Given the description of an element on the screen output the (x, y) to click on. 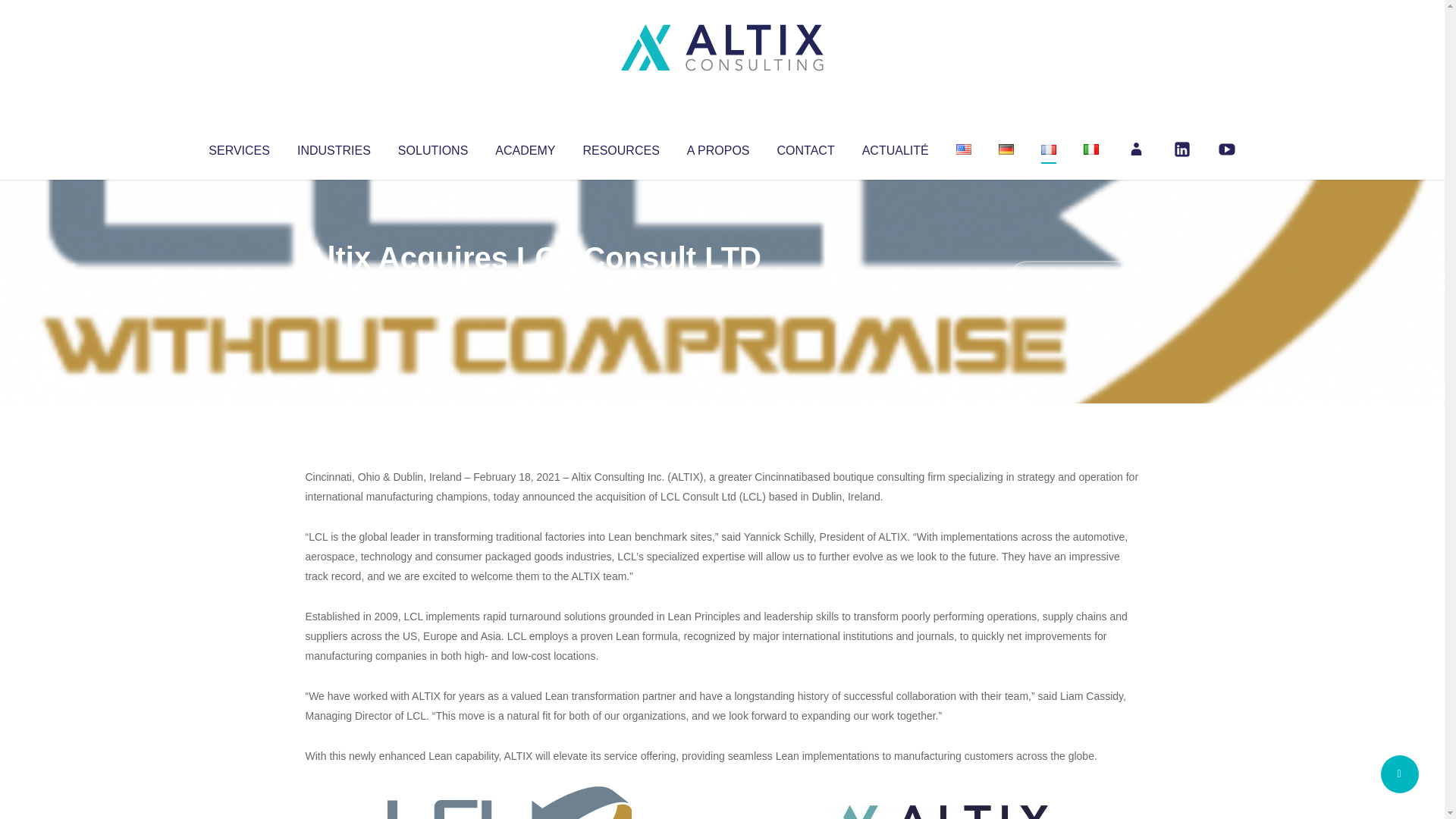
Uncategorized (530, 287)
No Comments (1073, 278)
ACADEMY (524, 146)
SOLUTIONS (432, 146)
RESOURCES (620, 146)
A PROPOS (718, 146)
Altix (333, 287)
Articles par Altix (333, 287)
SERVICES (238, 146)
INDUSTRIES (334, 146)
